Given the description of an element on the screen output the (x, y) to click on. 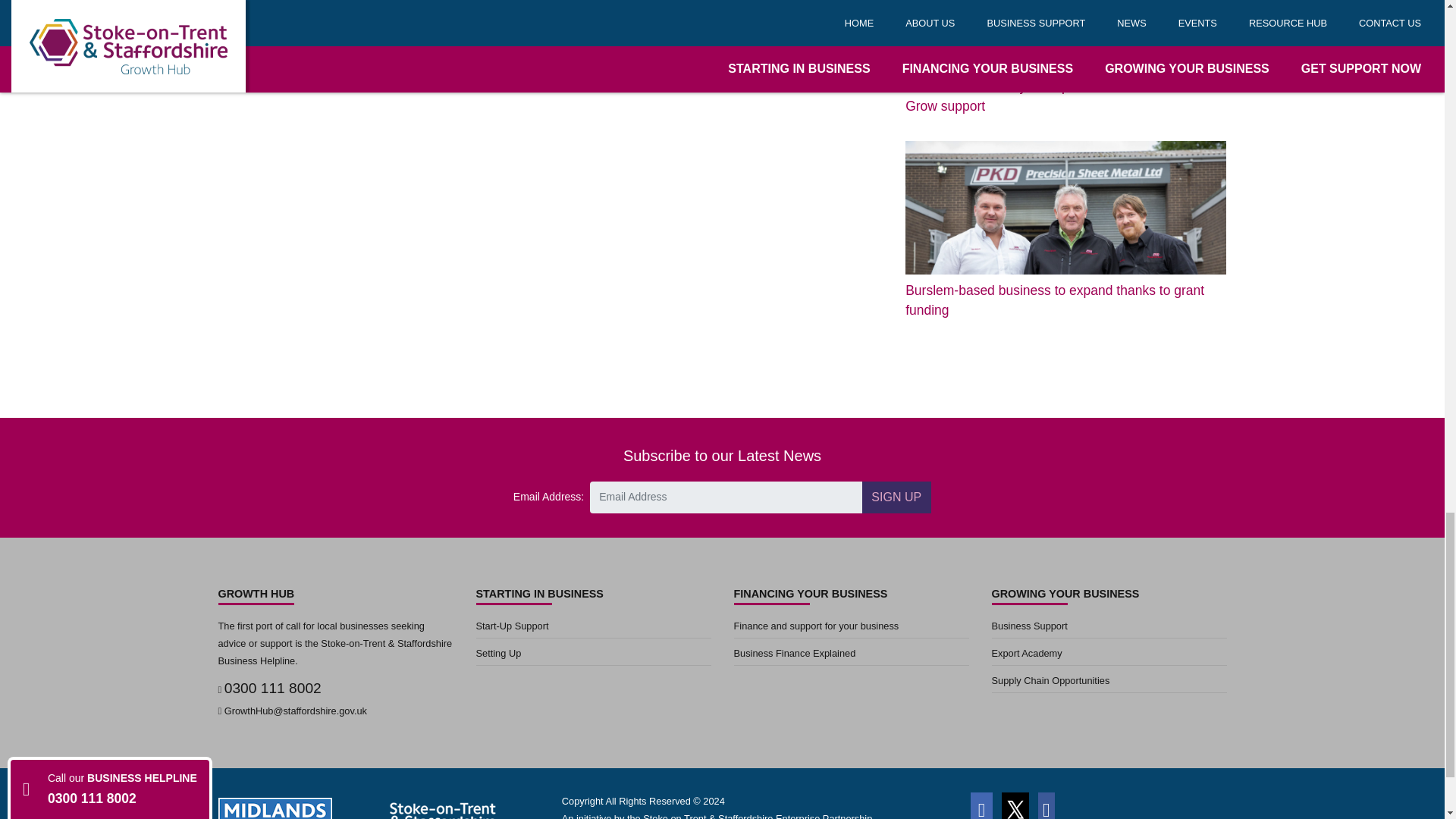
Start-Up Support (593, 627)
SIGN UP (896, 497)
0300 111 8002 (272, 688)
Finance and support for your business (851, 627)
Setting Up (593, 654)
Burslem-based business to expand thanks to grant funding (1065, 230)
